Given the description of an element on the screen output the (x, y) to click on. 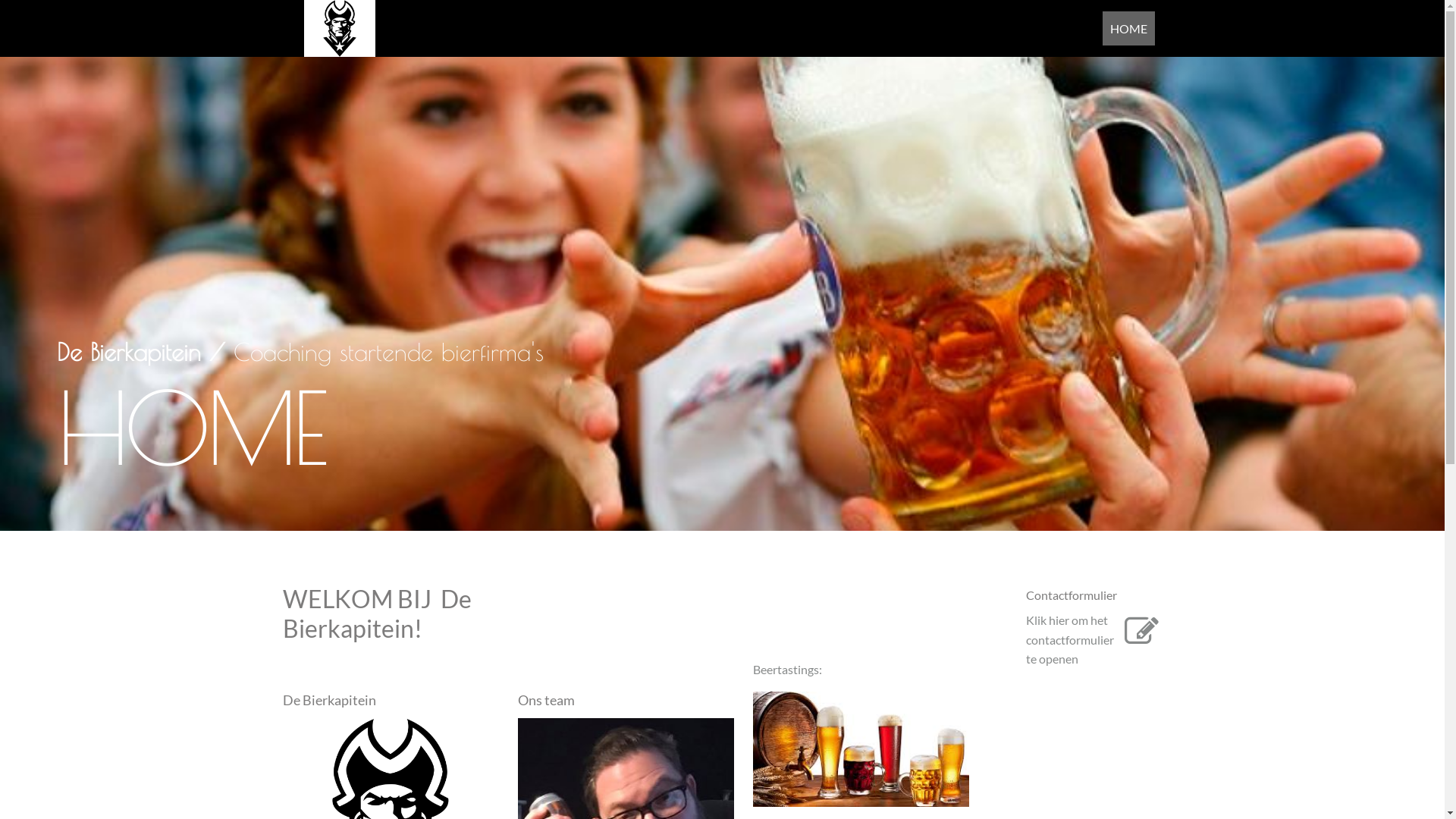
  Element type: text (338, 26)
HOME Element type: text (1128, 28)
Klik hier om het contactformulier te openen Element type: text (1093, 639)
